Given the description of an element on the screen output the (x, y) to click on. 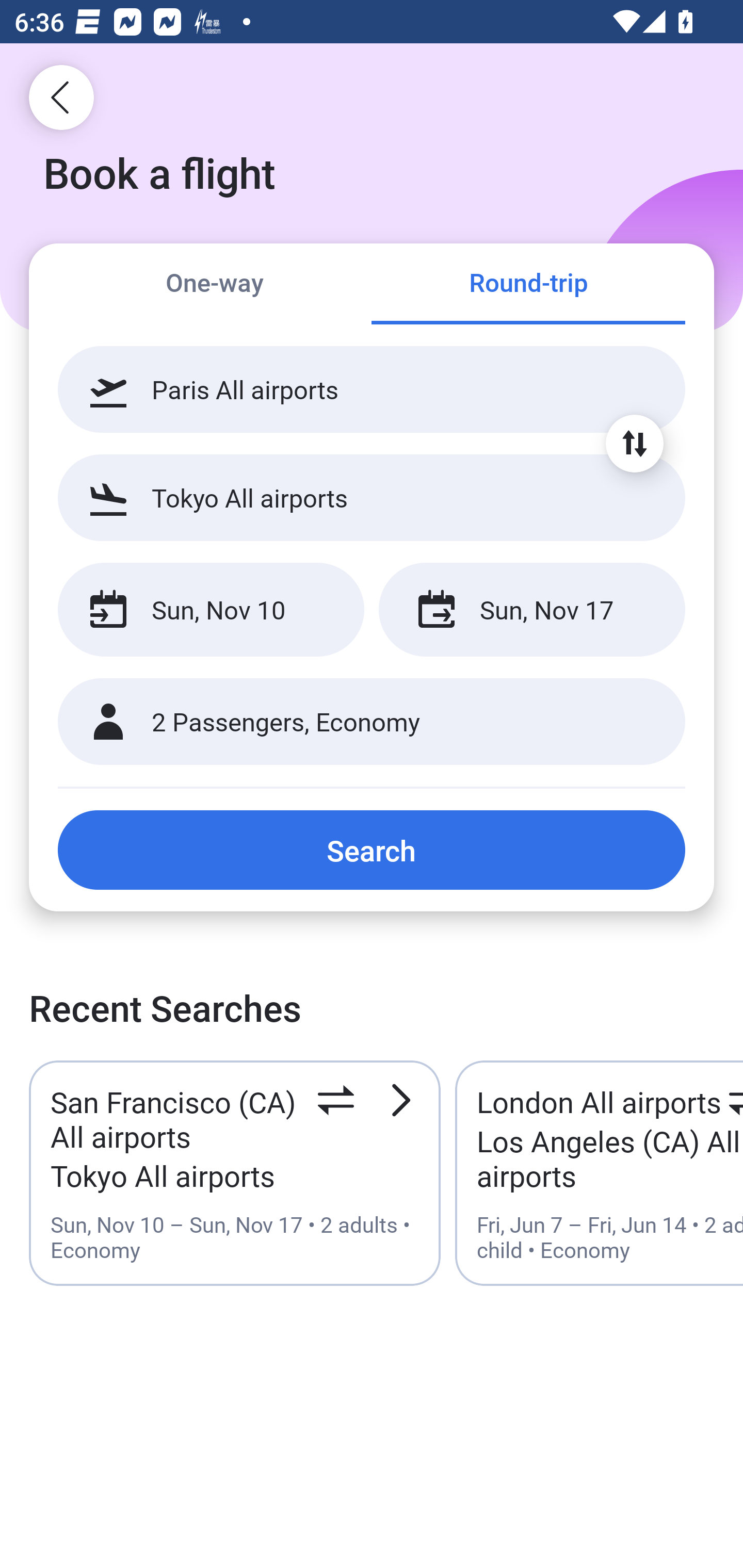
One-way (214, 284)
Paris All airports (371, 389)
Tokyo All airports (371, 497)
Sun, Nov 10 (210, 609)
Sun, Nov 17 (531, 609)
2 Passengers, Economy (371, 721)
Search (371, 849)
